Given the description of an element on the screen output the (x, y) to click on. 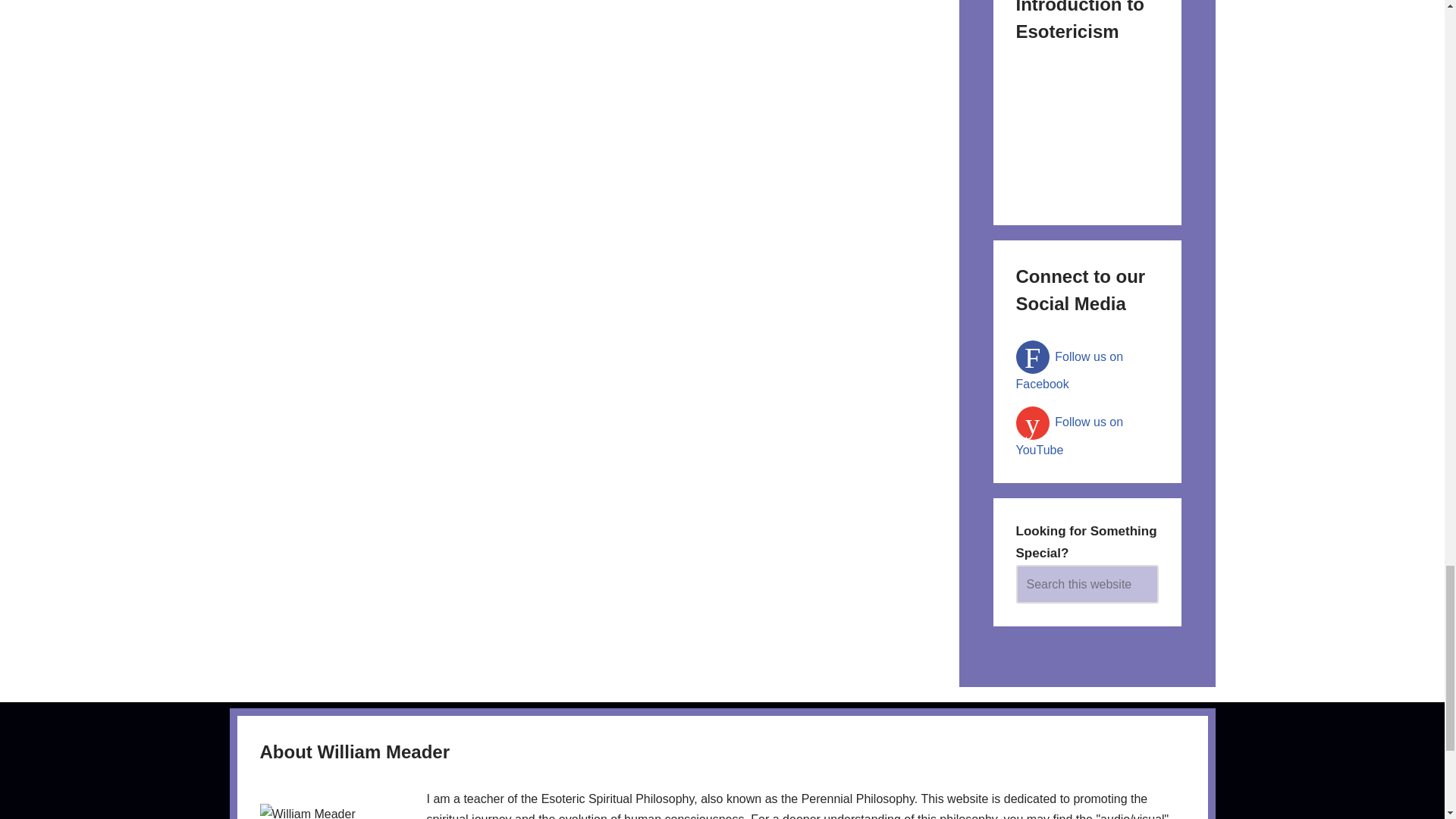
YouTube (1070, 435)
Facebook (1070, 370)
